Given the description of an element on the screen output the (x, y) to click on. 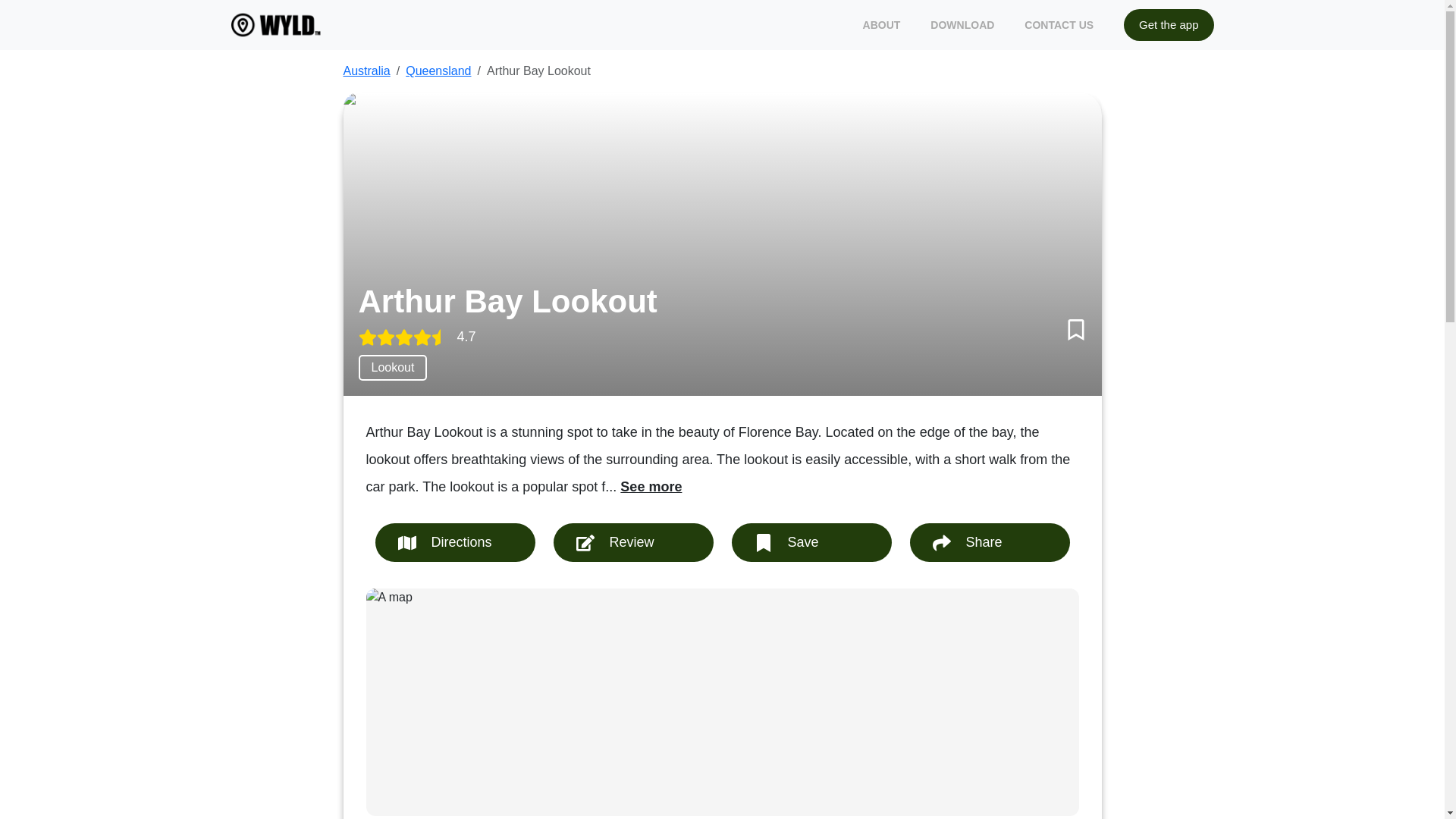
Get the app (1168, 25)
Directions (454, 542)
Australia (366, 70)
CONTACT US (1059, 24)
ABOUT (882, 24)
Queensland (438, 70)
DOWNLOAD (962, 24)
